Given the description of an element on the screen output the (x, y) to click on. 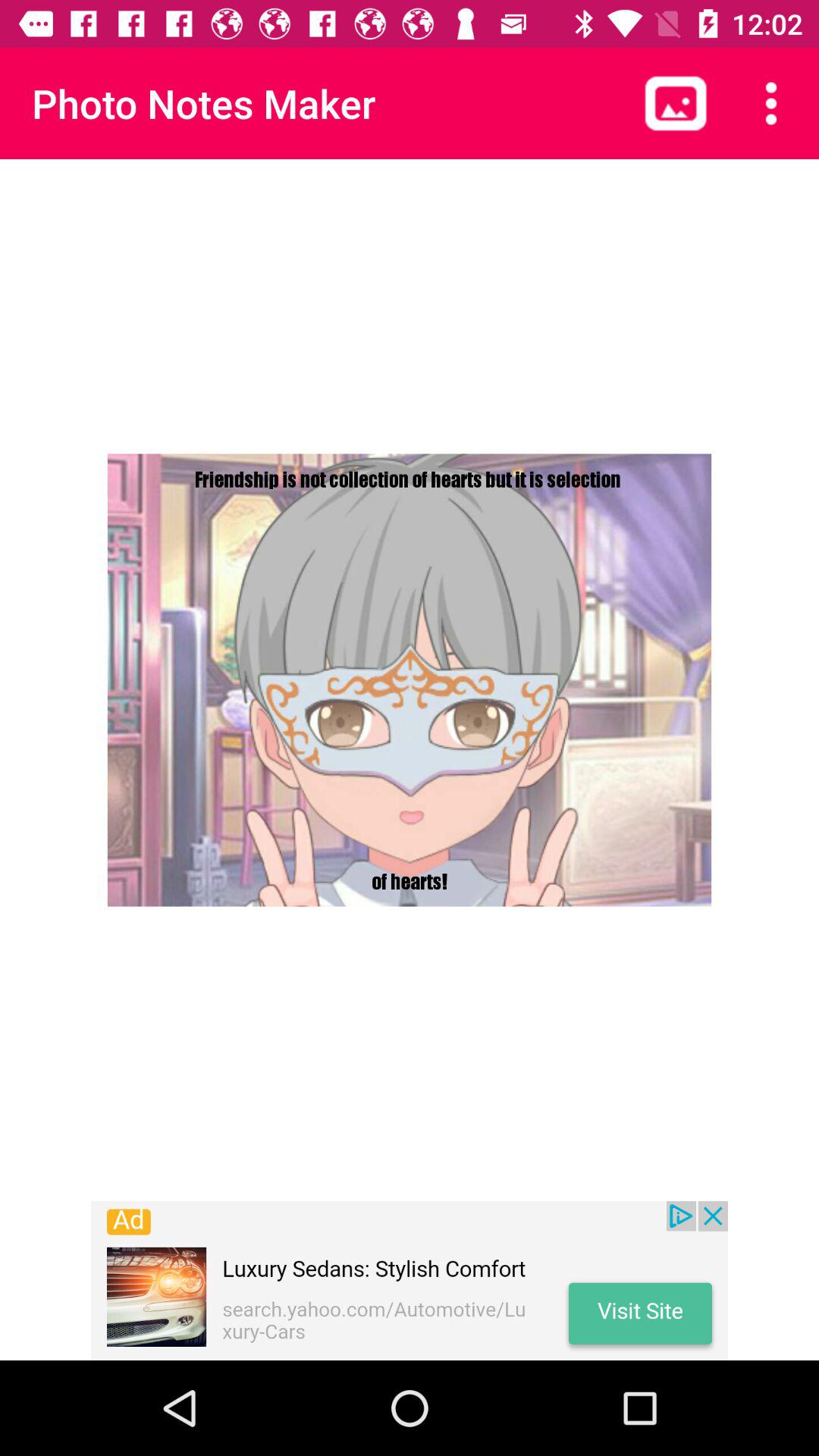
luxury sedans icon (409, 1280)
